Given the description of an element on the screen output the (x, y) to click on. 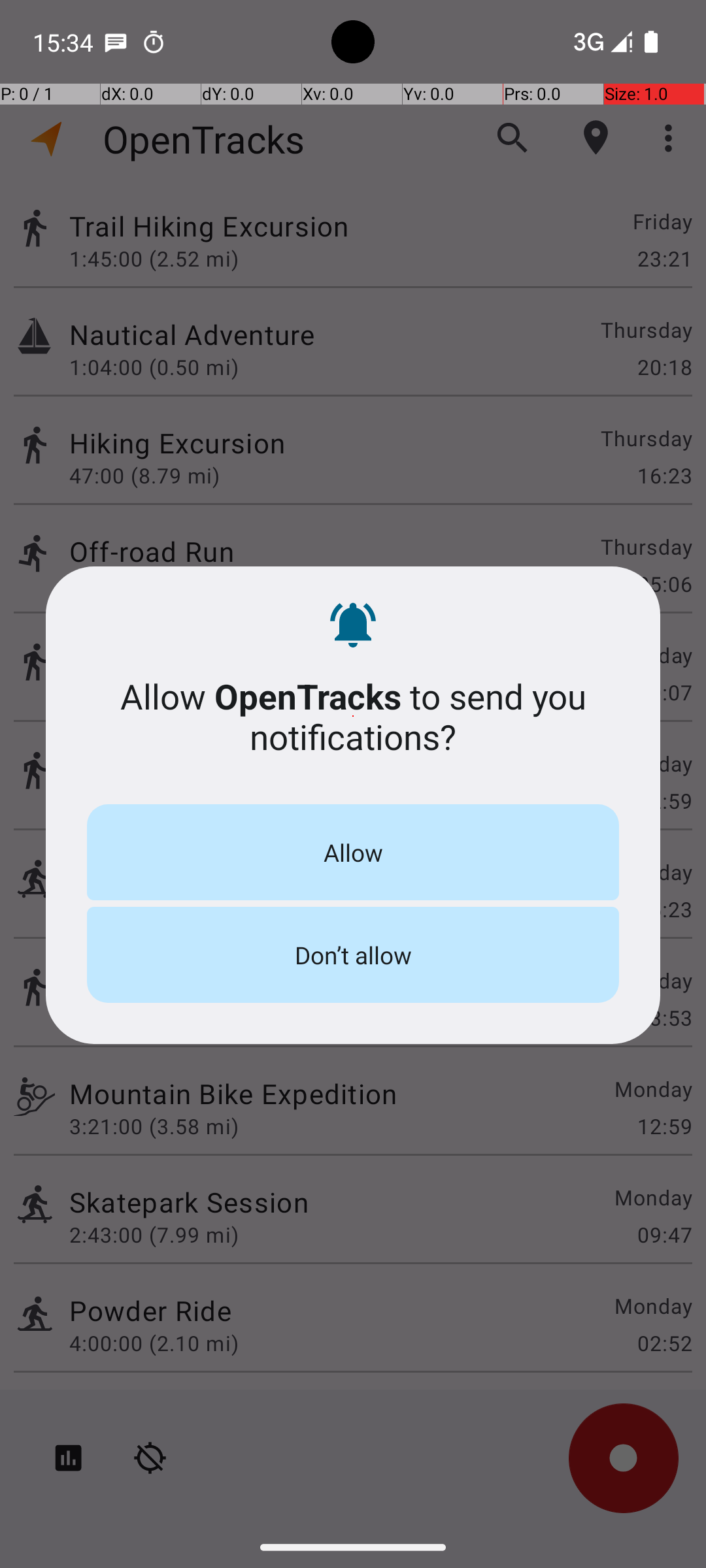
Allow OpenTracks to send you notifications? Element type: android.widget.TextView (352, 715)
